Given the description of an element on the screen output the (x, y) to click on. 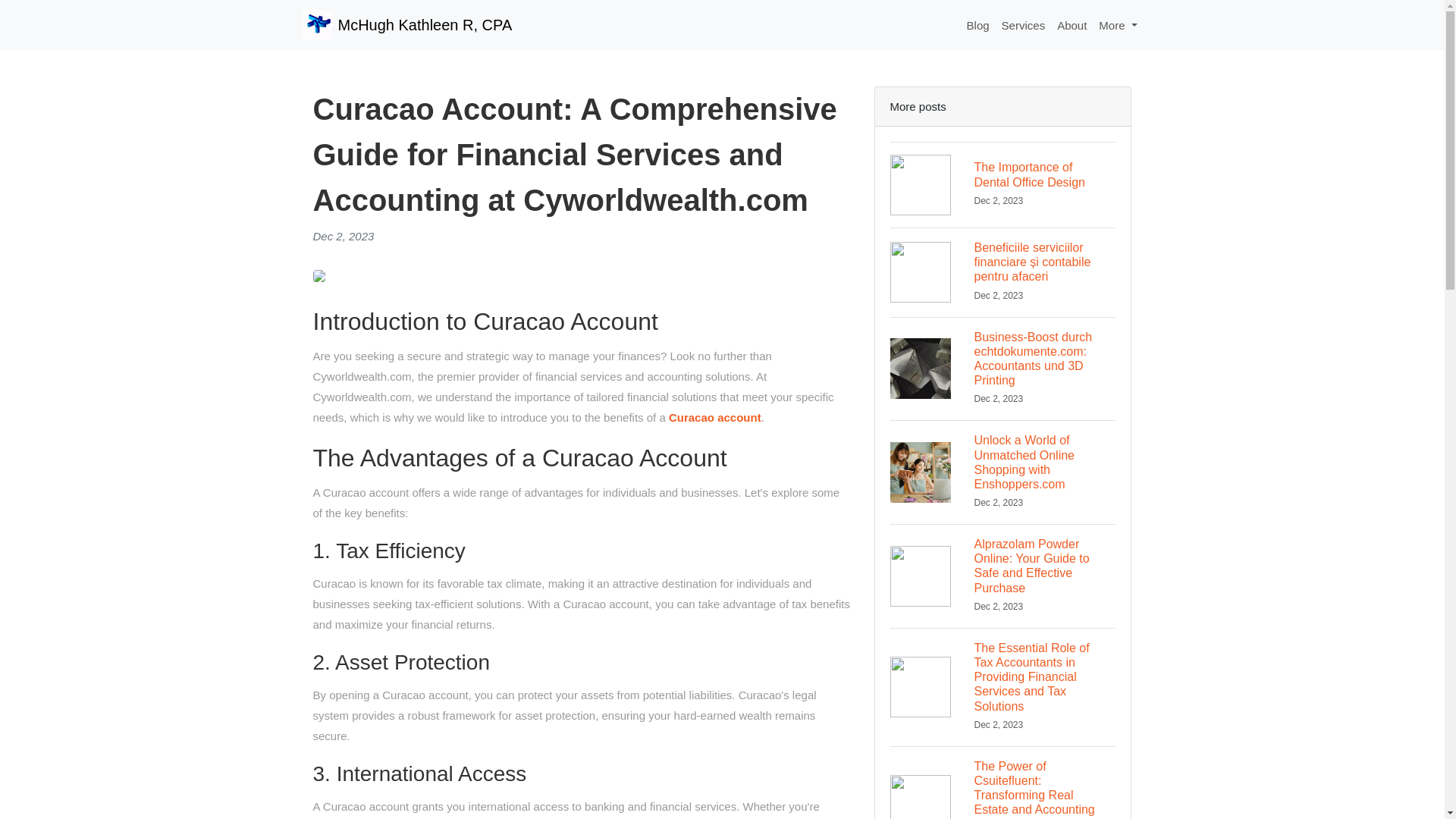
Curacao account (1002, 184)
More (714, 417)
Blog (1117, 25)
McHugh Kathleen R, CPA (977, 25)
Services (406, 24)
About (1023, 25)
